Given the description of an element on the screen output the (x, y) to click on. 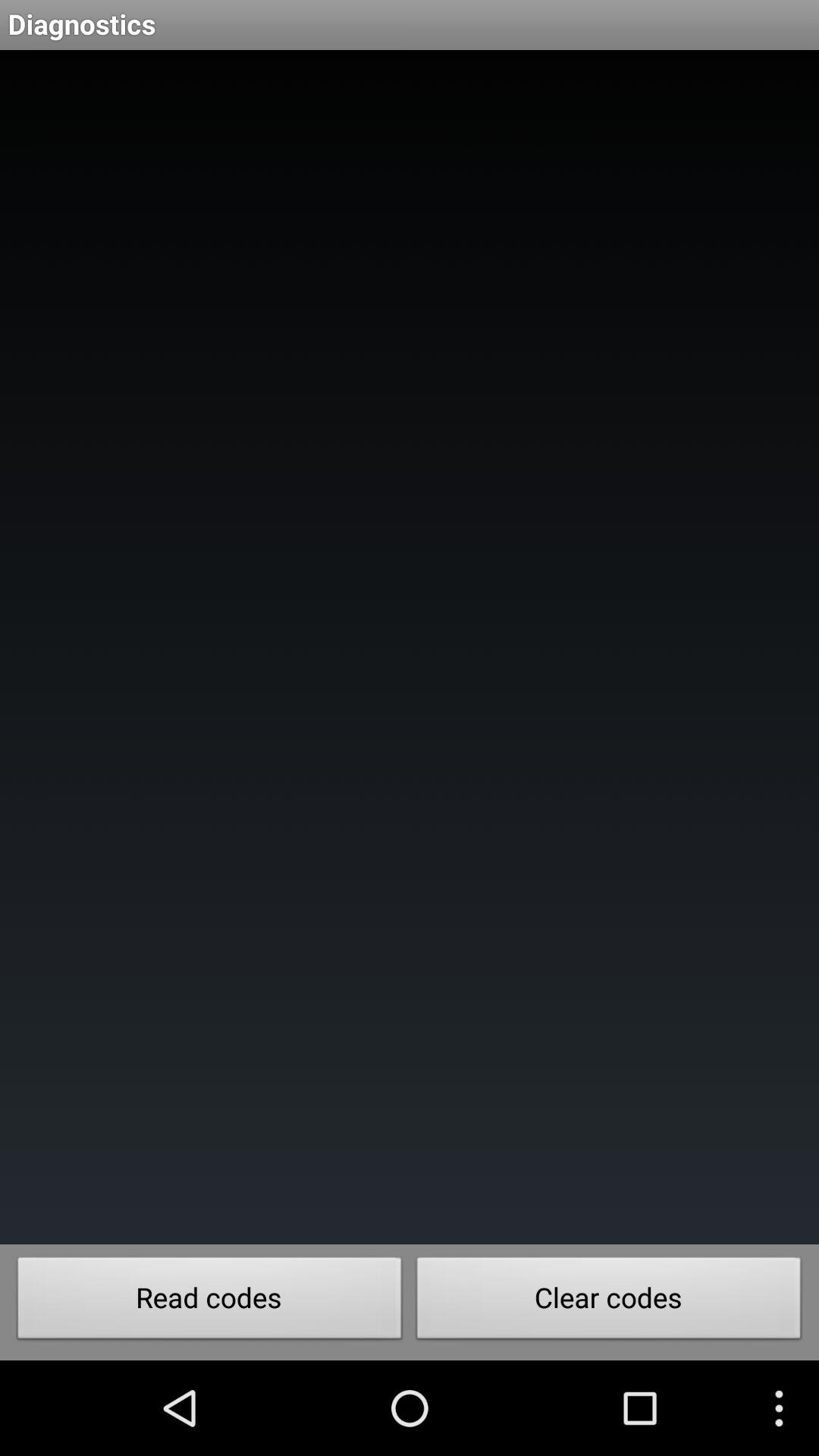
launch the item to the right of read codes icon (608, 1302)
